Given the description of an element on the screen output the (x, y) to click on. 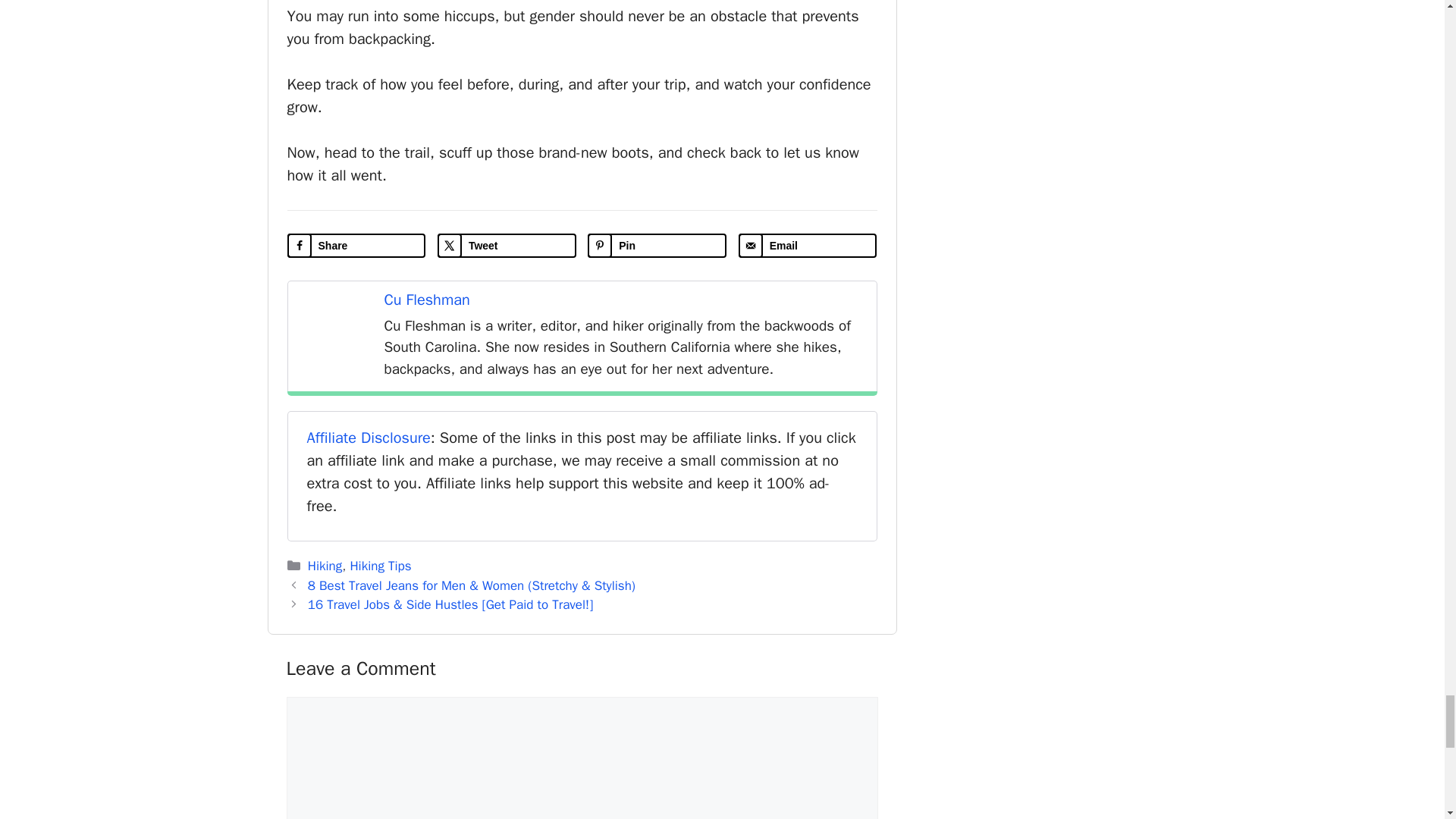
Save to Pinterest (657, 245)
Share on X (507, 245)
Send over email (807, 245)
Share on Facebook (355, 245)
